Given the description of an element on the screen output the (x, y) to click on. 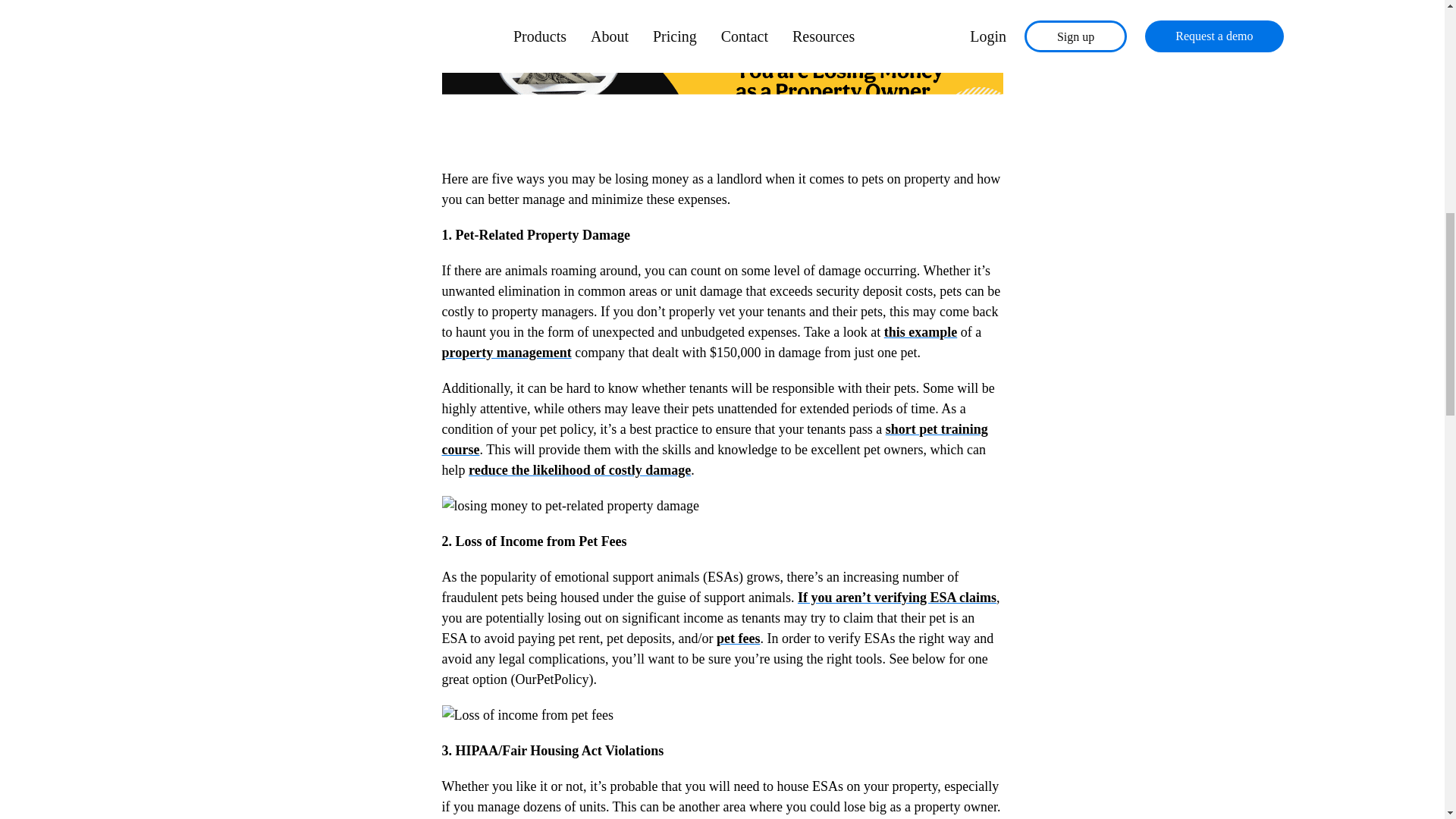
this example (920, 331)
reduce the likelihood of costly damage (579, 469)
pet fees (738, 638)
property management (505, 352)
short pet training course (714, 439)
